Given the description of an element on the screen output the (x, y) to click on. 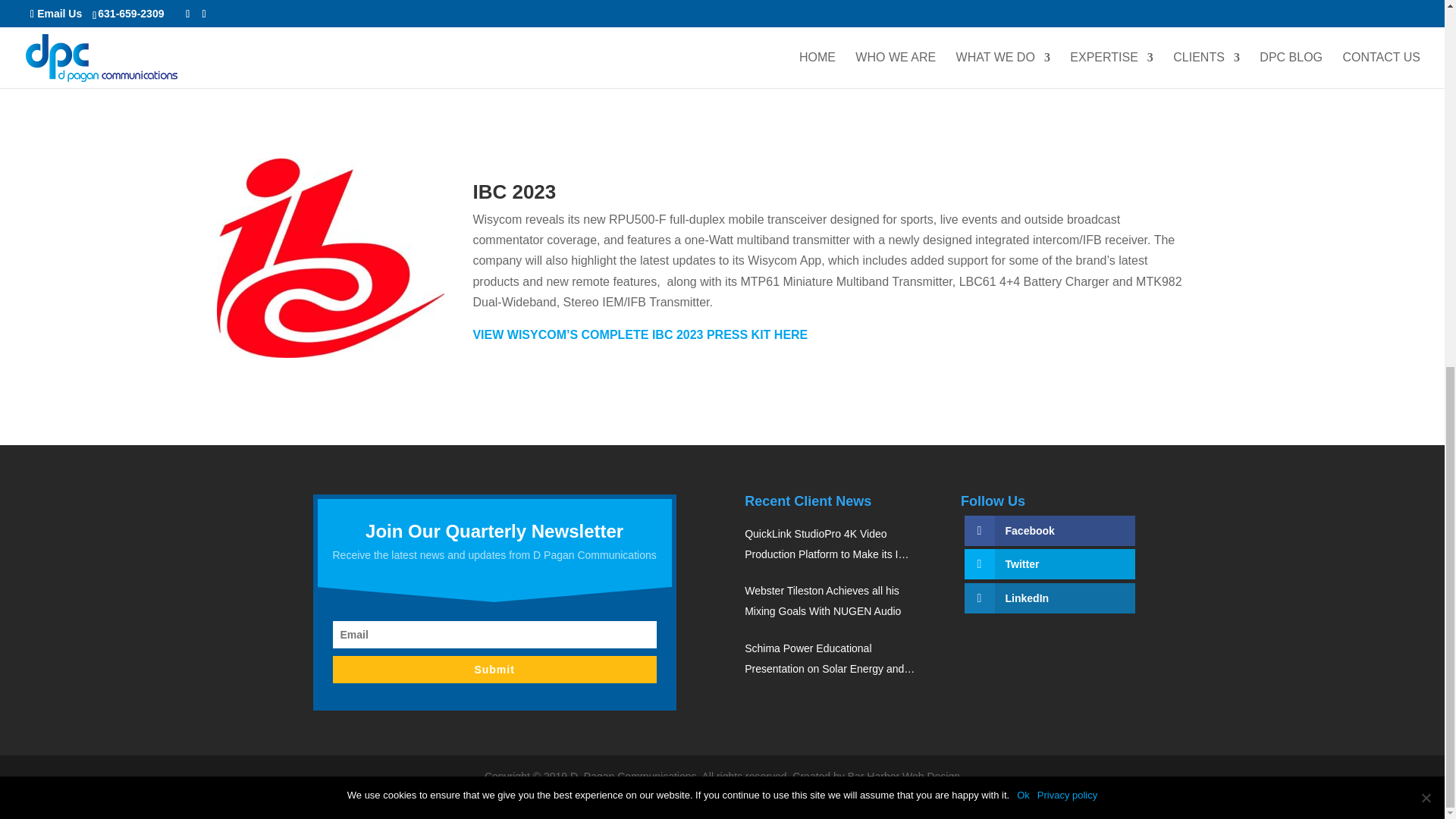
No (1425, 136)
